Given the description of an element on the screen output the (x, y) to click on. 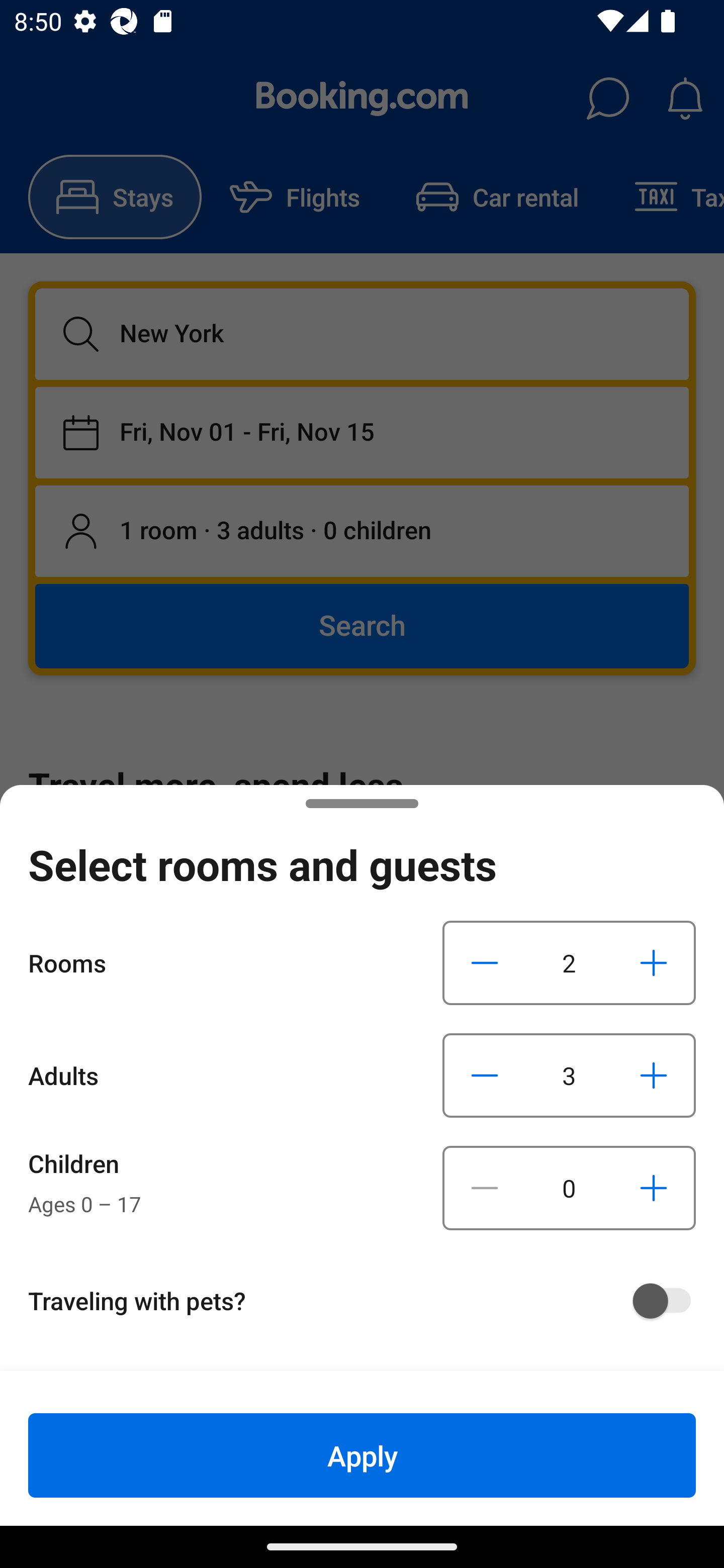
Decrease (484, 962)
Increase (653, 962)
Decrease (484, 1075)
Increase (653, 1075)
Decrease (484, 1188)
Increase (653, 1188)
Traveling with pets? (369, 1300)
Apply (361, 1454)
